Given the description of an element on the screen output the (x, y) to click on. 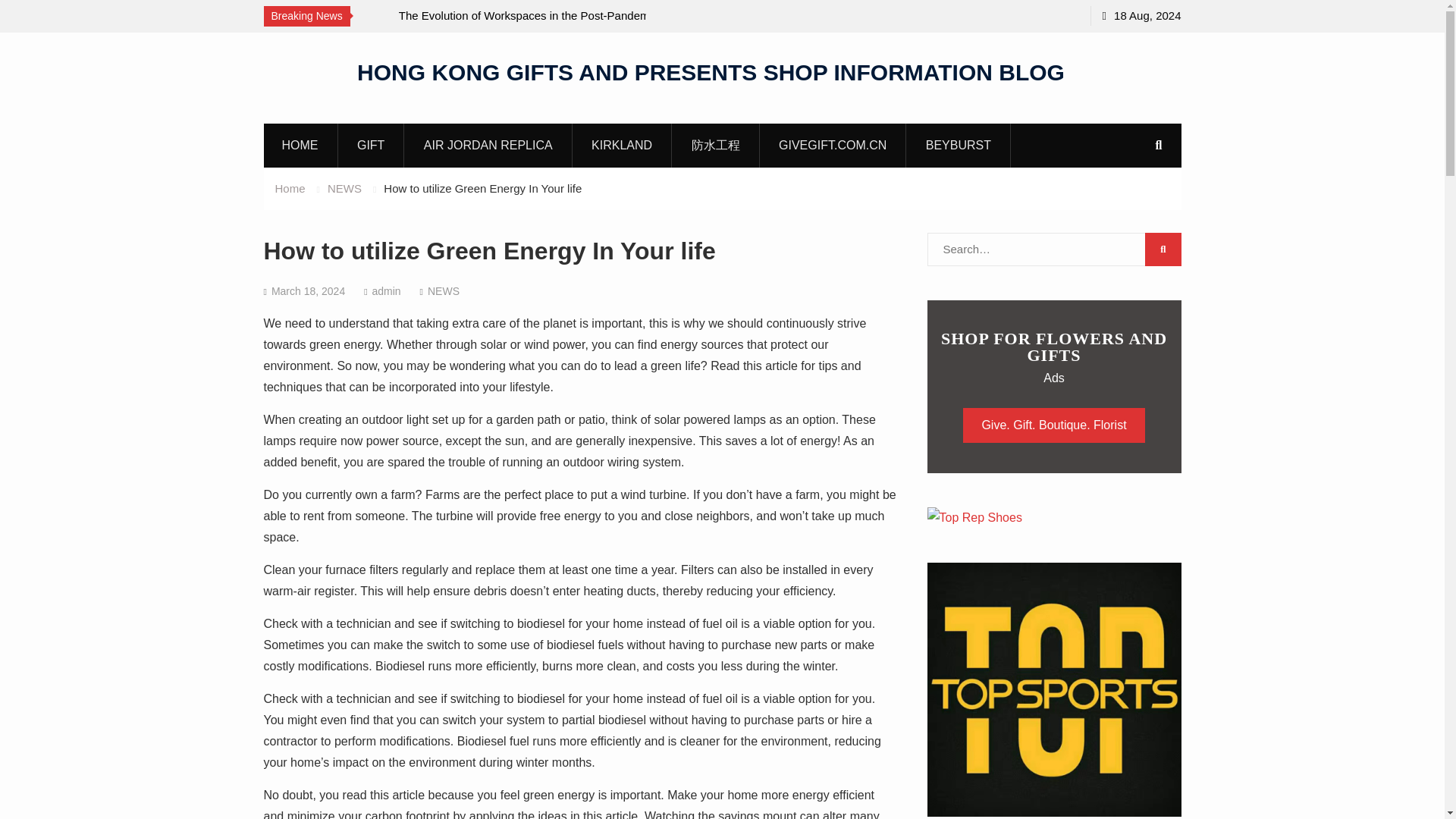
KIRKLAND (621, 144)
GIVEGIFT.COM.CN (832, 144)
admin (385, 291)
HOME (299, 144)
March 18, 2024 (307, 291)
Give. Gift. Boutique. Florist (1053, 425)
AIR JORDAN REPLICA (488, 144)
The Evolution of Workspaces in the Post-Pandemic Era (535, 25)
GIFT (370, 144)
